Given the description of an element on the screen output the (x, y) to click on. 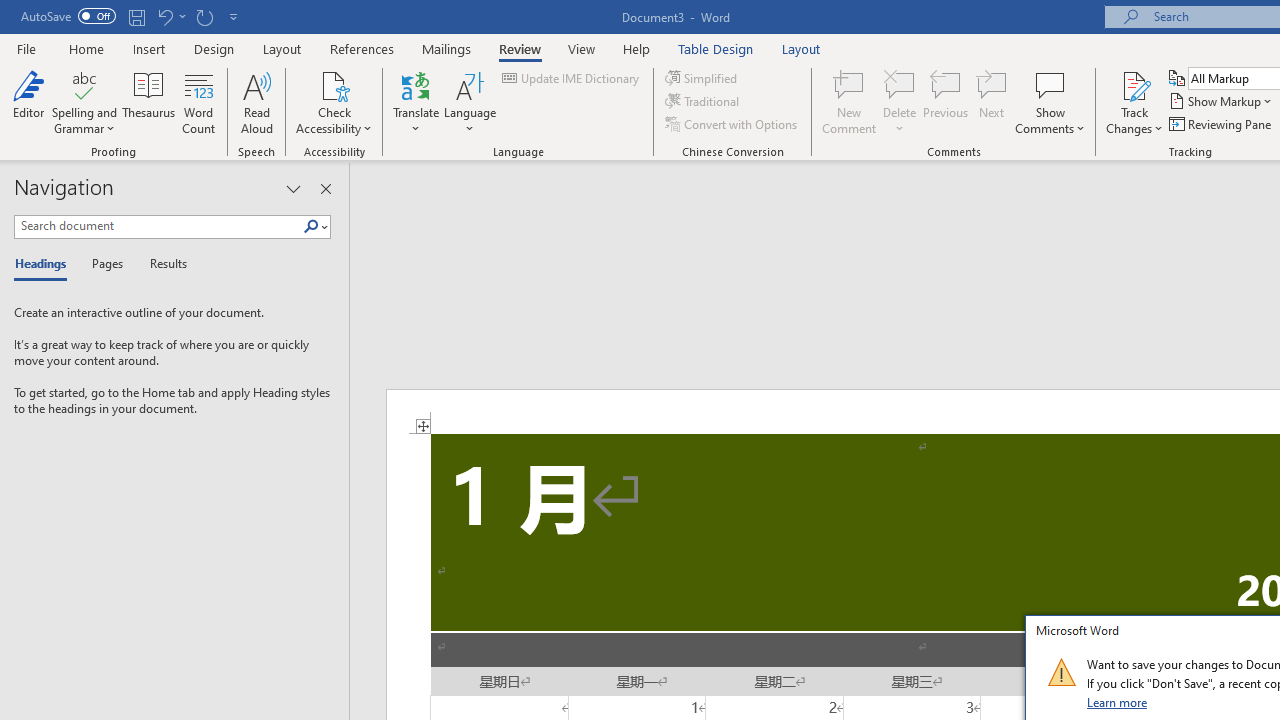
Track Changes (1134, 84)
Word Count (198, 102)
Headings (45, 264)
Undo Increase Indent (170, 15)
Convert with Options... (732, 124)
Spelling and Grammar (84, 84)
Learn more (1118, 702)
Check Accessibility (334, 84)
Translate (415, 102)
